Given the description of an element on the screen output the (x, y) to click on. 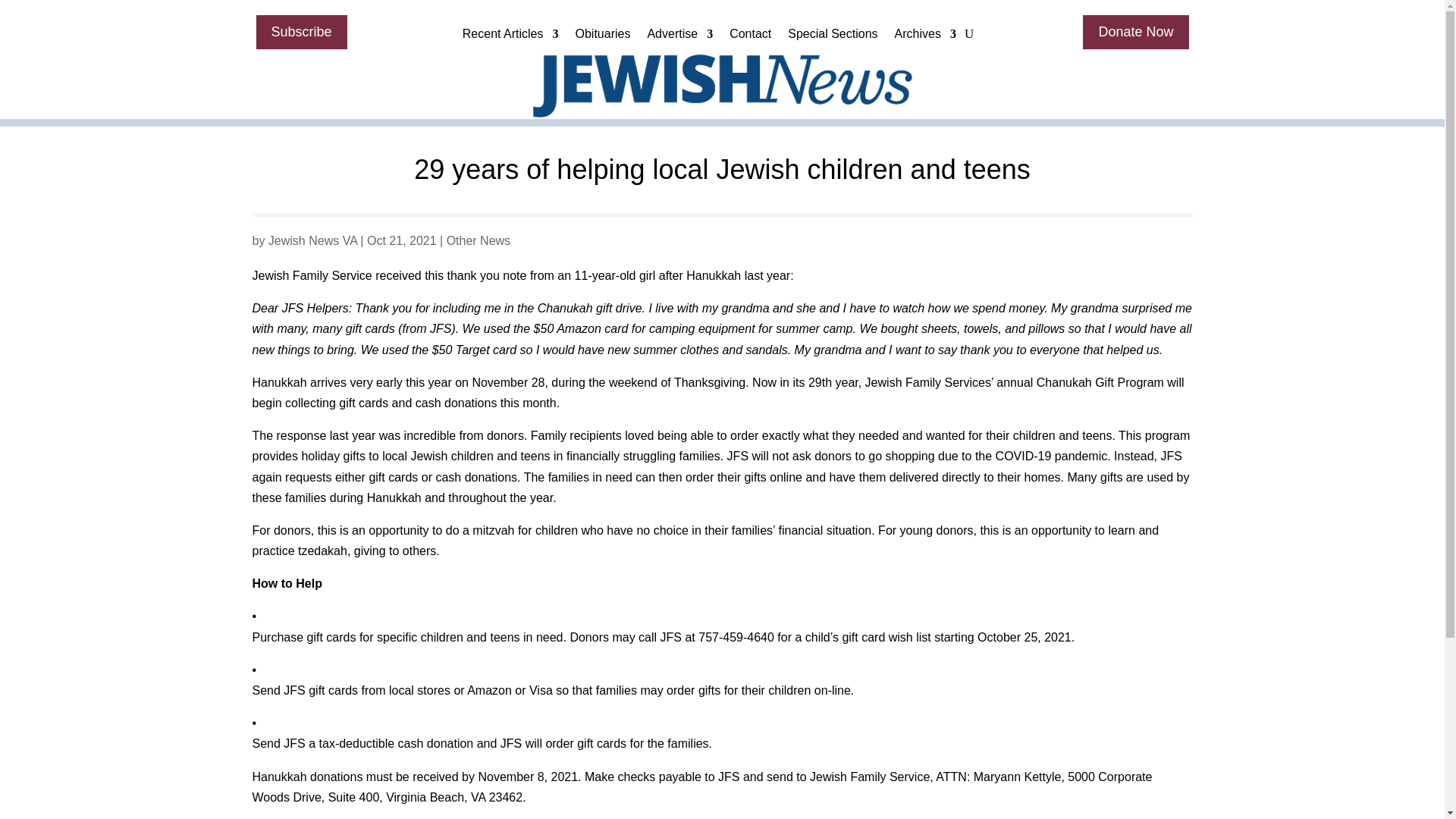
Posts by Jewish News VA (311, 240)
Obituaries (602, 37)
Donate Now (1135, 32)
Special Sections (832, 37)
Advertise (679, 37)
Recent Articles (511, 37)
Archives (925, 37)
Contact (750, 37)
Subscribe (301, 32)
